Given the description of an element on the screen output the (x, y) to click on. 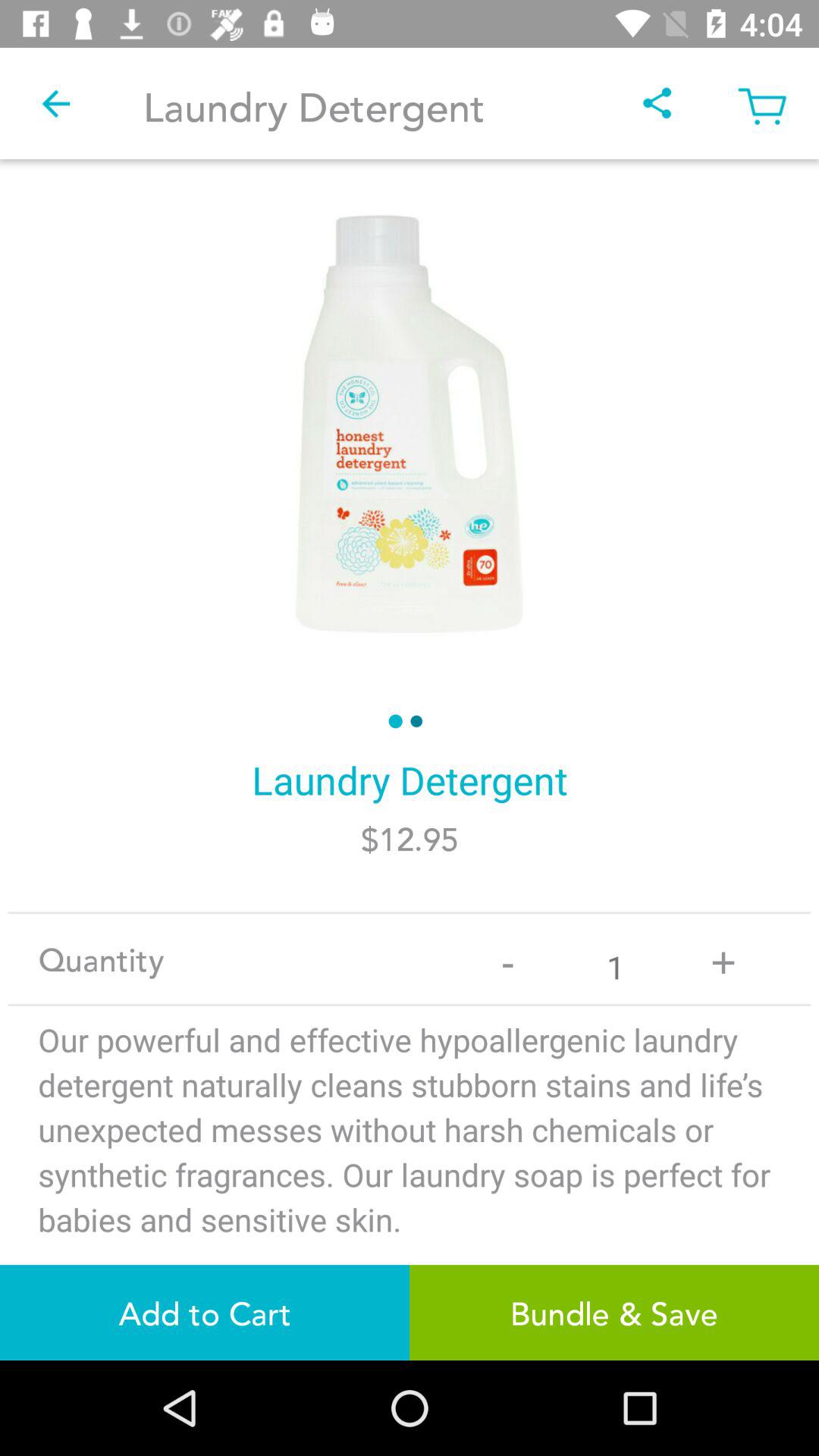
tap the icon next to quantity icon (507, 958)
